Given the description of an element on the screen output the (x, y) to click on. 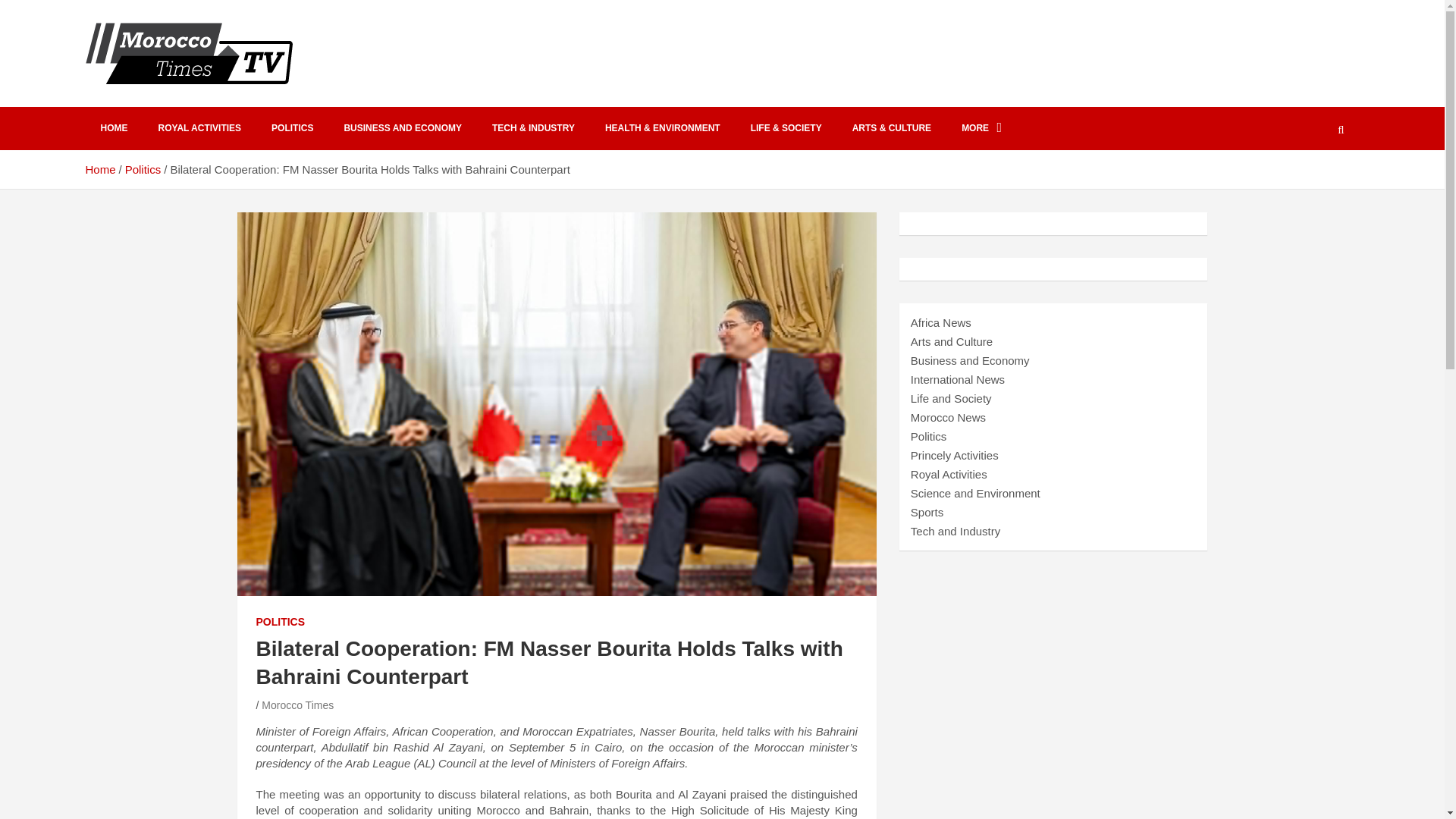
Politics (143, 169)
Science and Environment (976, 492)
Tech and Industry (955, 530)
HOME (113, 128)
Royal Activities (949, 473)
Morocco times TV (215, 103)
Sports (927, 512)
Home (99, 169)
ROYAL ACTIVITIES (199, 128)
International News (957, 379)
